Given the description of an element on the screen output the (x, y) to click on. 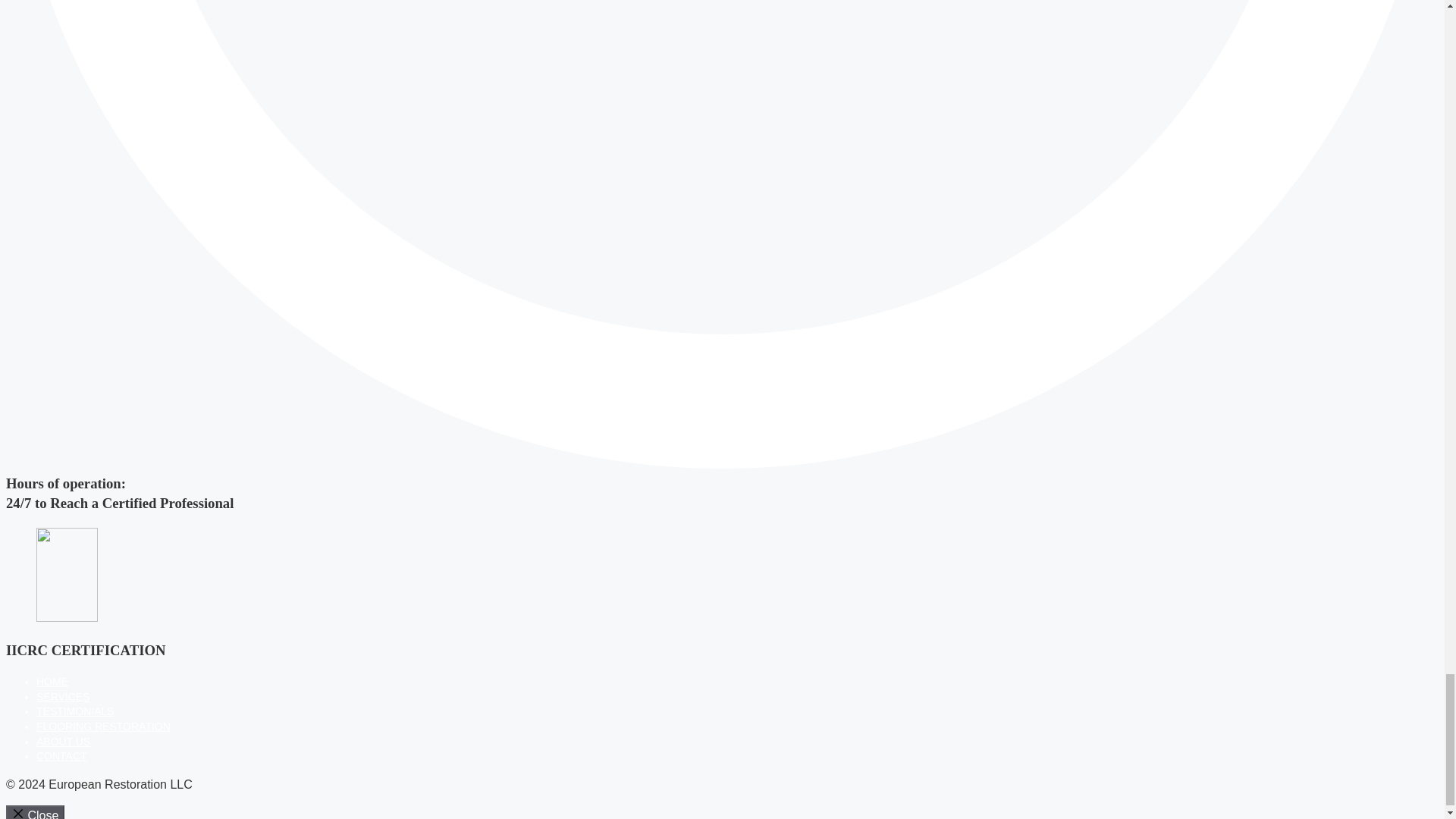
ABOUT US (63, 741)
TESTIMONIALS (75, 711)
CONTACT (61, 756)
SERVICES (63, 696)
FLOORING RESTORATION (103, 726)
HOME (52, 681)
